Given the description of an element on the screen output the (x, y) to click on. 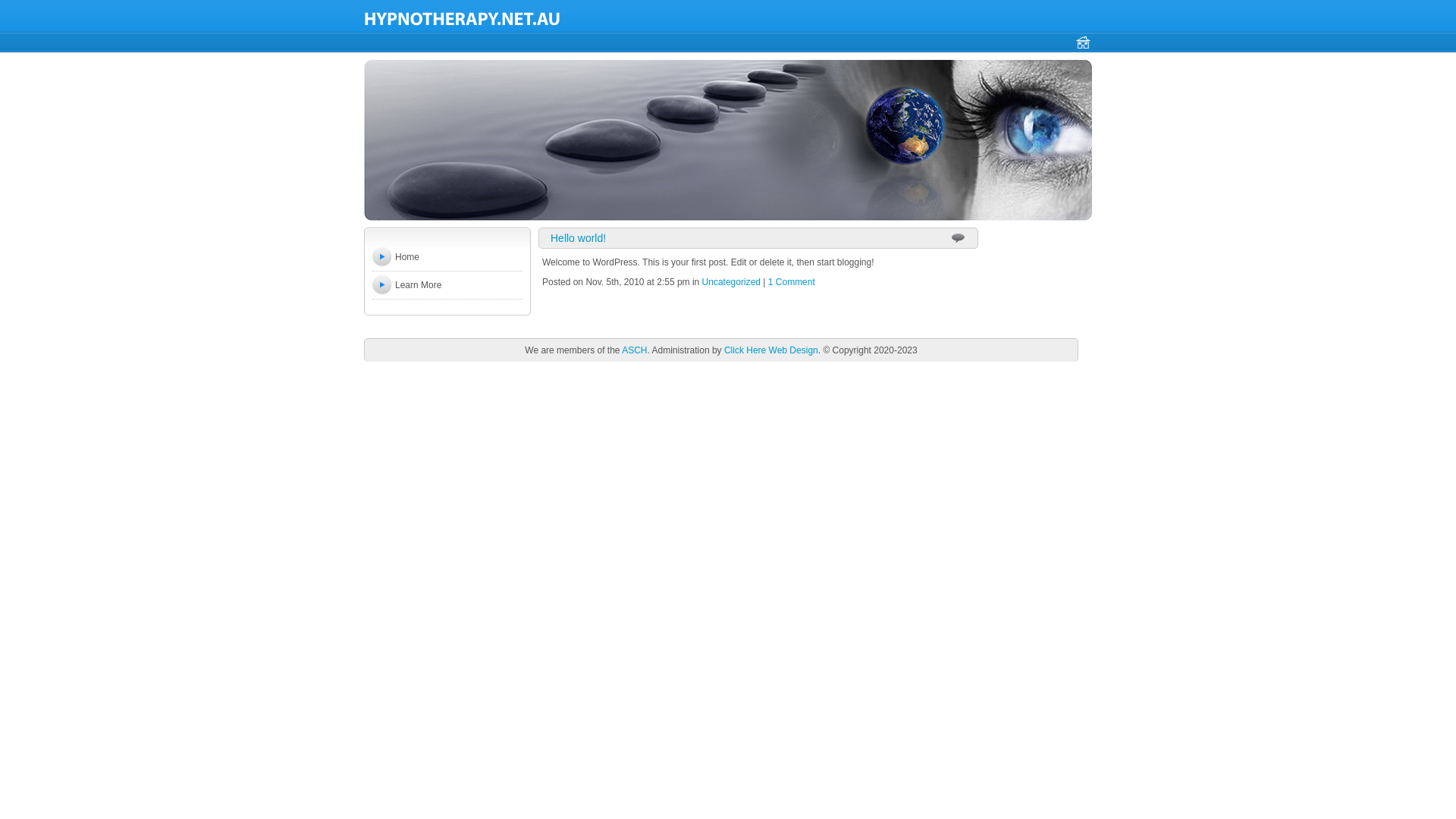
Hello world! Element type: text (577, 238)
Uncategorized Element type: text (731, 281)
1 Comment Element type: text (791, 281)
Home Element type: text (407, 256)
ASCH Element type: text (633, 350)
Click Here Web Design Element type: text (771, 350)
Hello world! Element type: hover (462, 18)
Learn More Element type: text (418, 284)
